Given the description of an element on the screen output the (x, y) to click on. 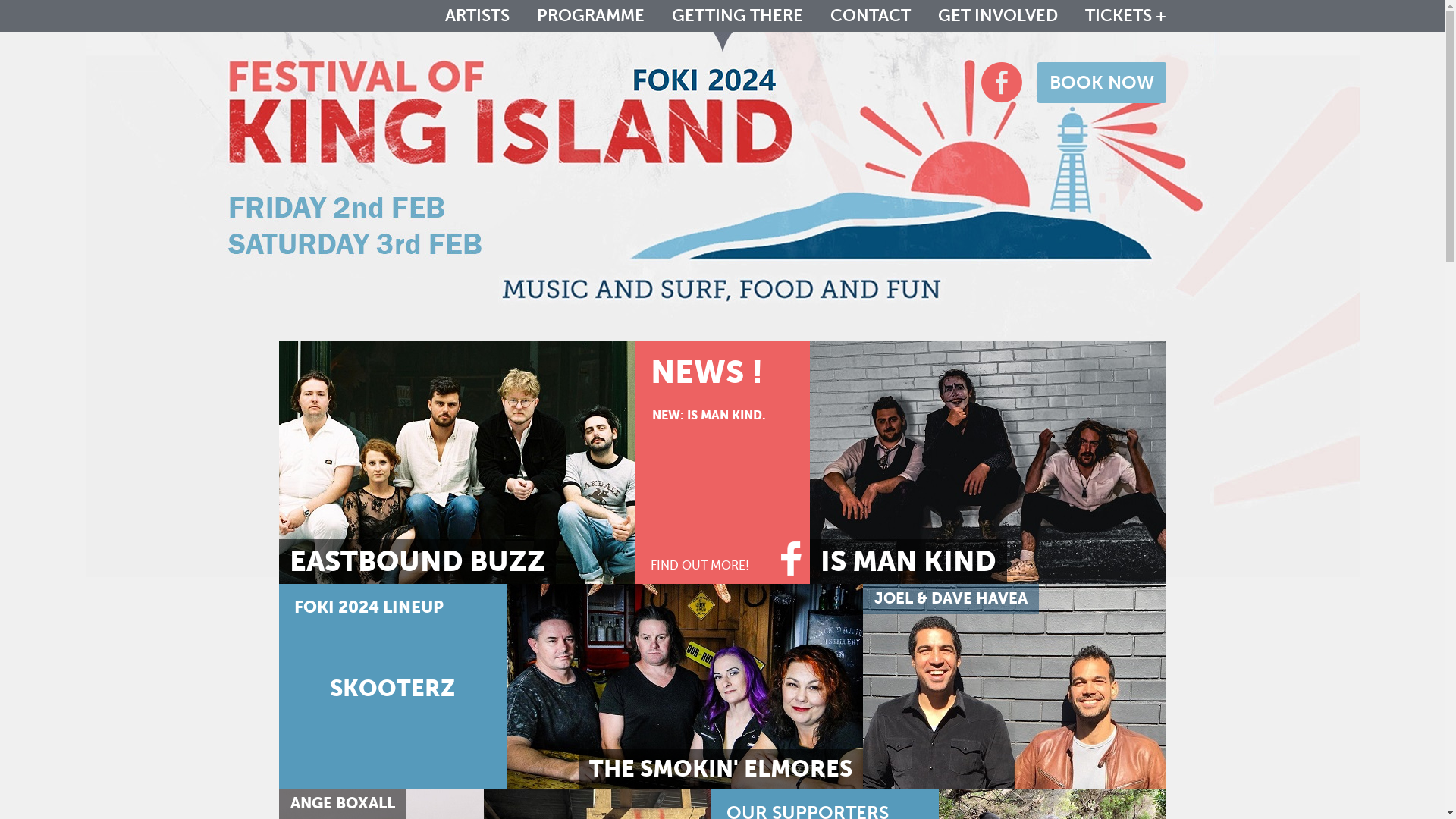
TICKETS + Element type: text (1124, 15)
PROGRAMME Element type: text (590, 15)
FIND OUT MORE! Element type: text (699, 575)
BOOK NOW Element type: text (1101, 82)
ARTISTS Element type: text (476, 15)
GETTING THERE Element type: text (737, 15)
CONTACT Element type: text (869, 15)
JOEL & DAVE HAVEA Element type: text (1014, 685)
GET INVOLVED Element type: text (997, 15)
